Given the description of an element on the screen output the (x, y) to click on. 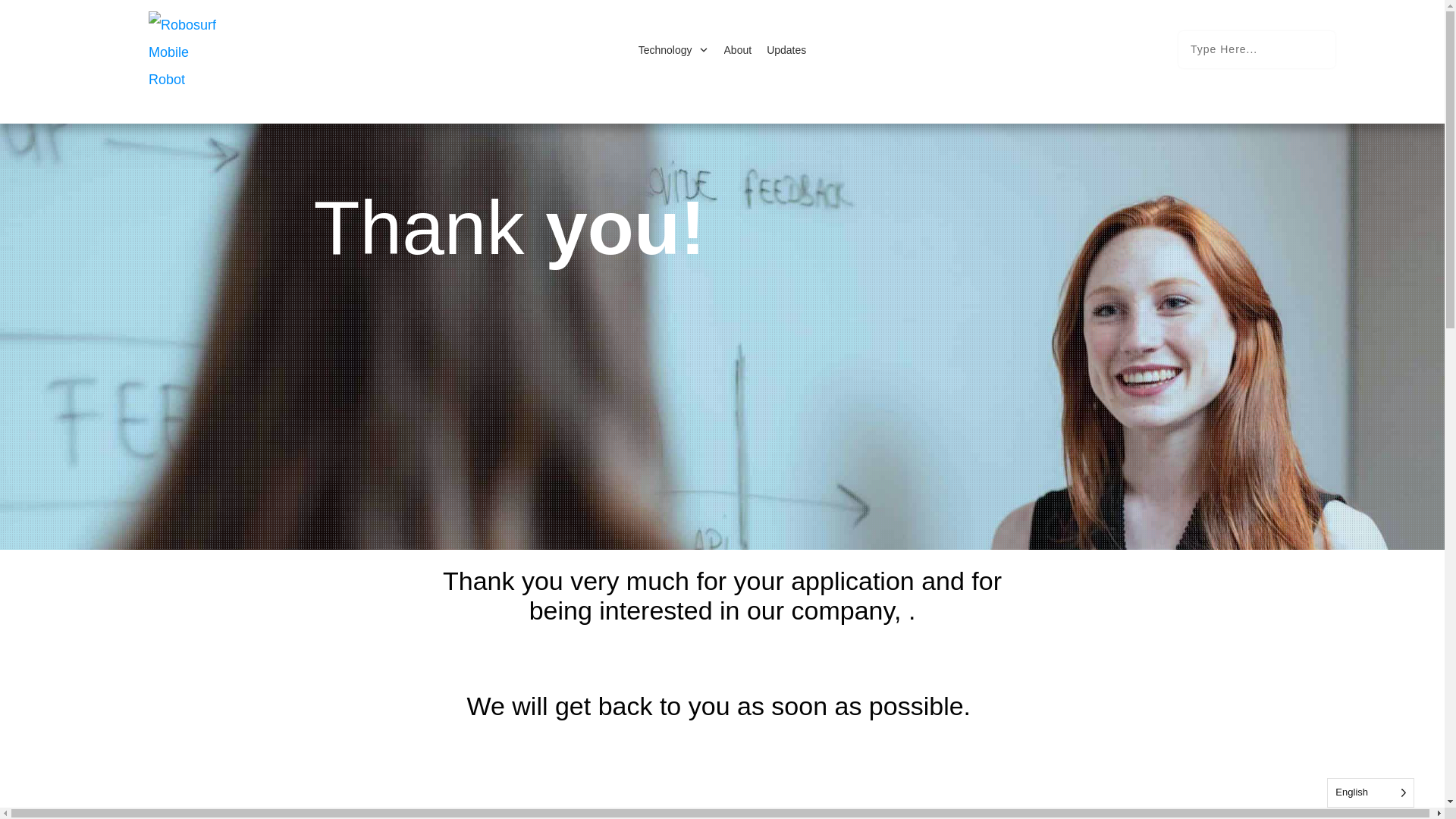
Technology (674, 49)
Updates (786, 49)
About (737, 49)
